Given the description of an element on the screen output the (x, y) to click on. 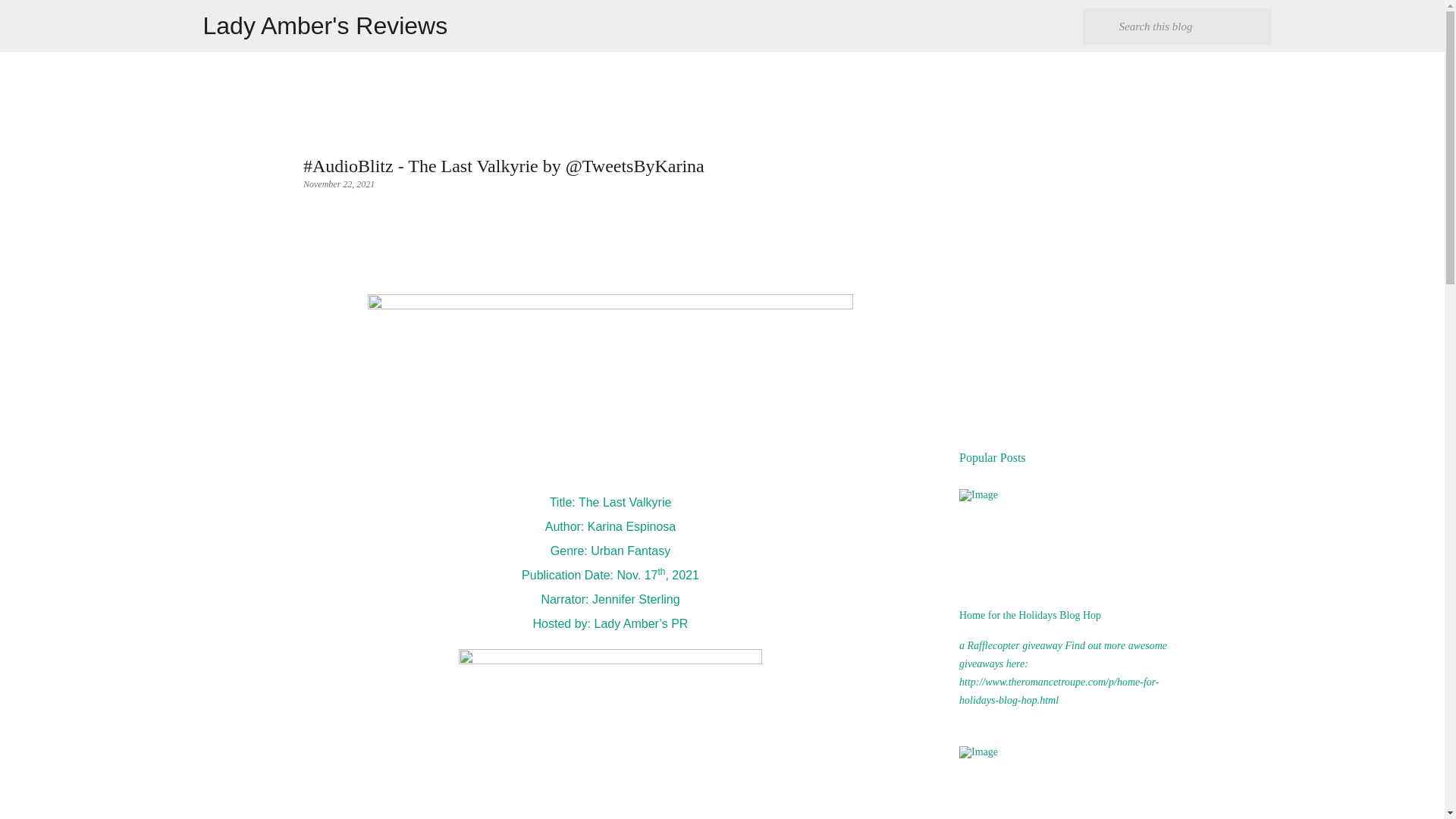
permanent link (338, 184)
Lady Amber's Reviews (325, 25)
Home for the Holidays Blog Hop (1029, 614)
November 22, 2021 (338, 184)
